Given the description of an element on the screen output the (x, y) to click on. 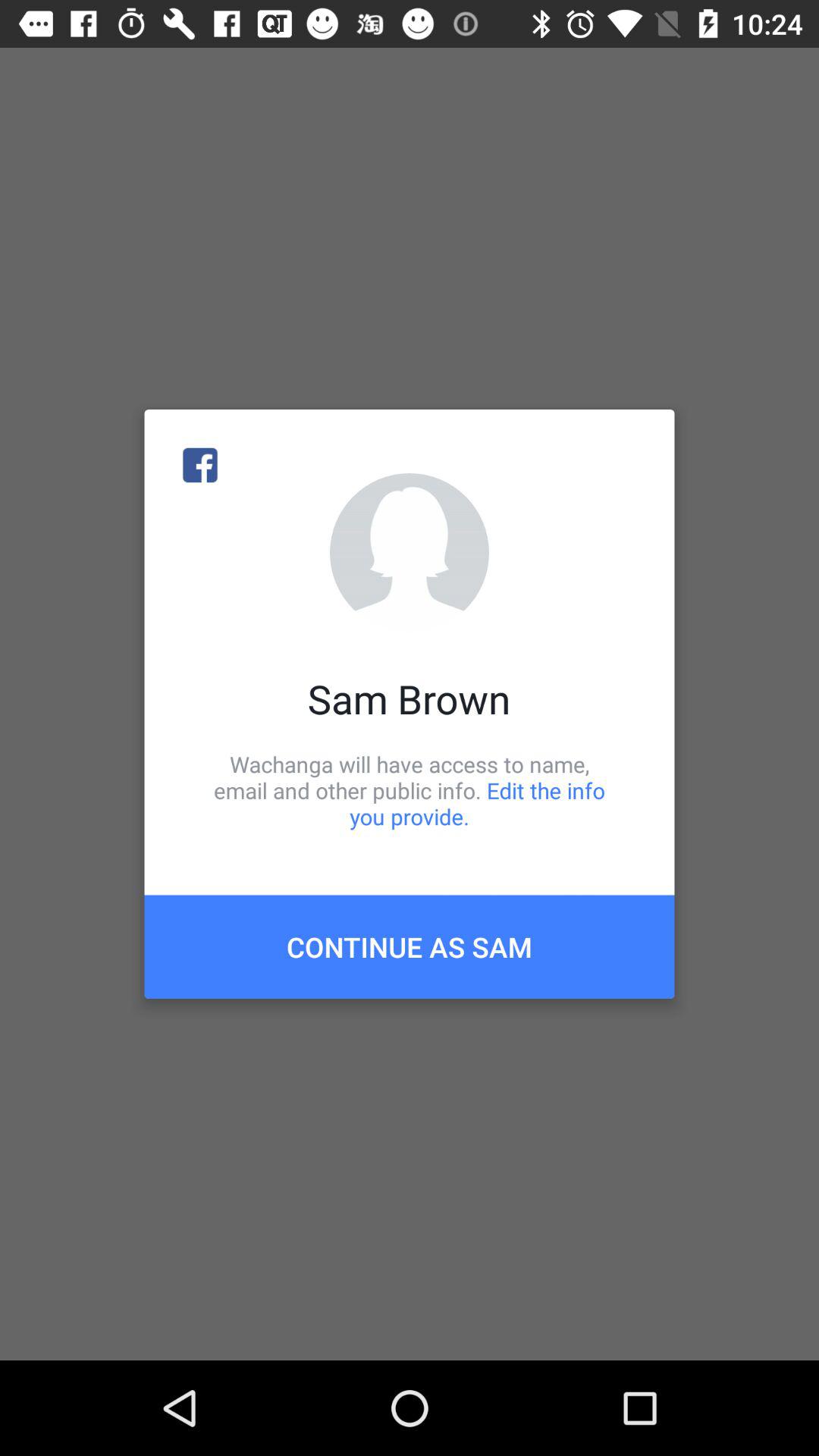
jump until continue as sam item (409, 946)
